Given the description of an element on the screen output the (x, y) to click on. 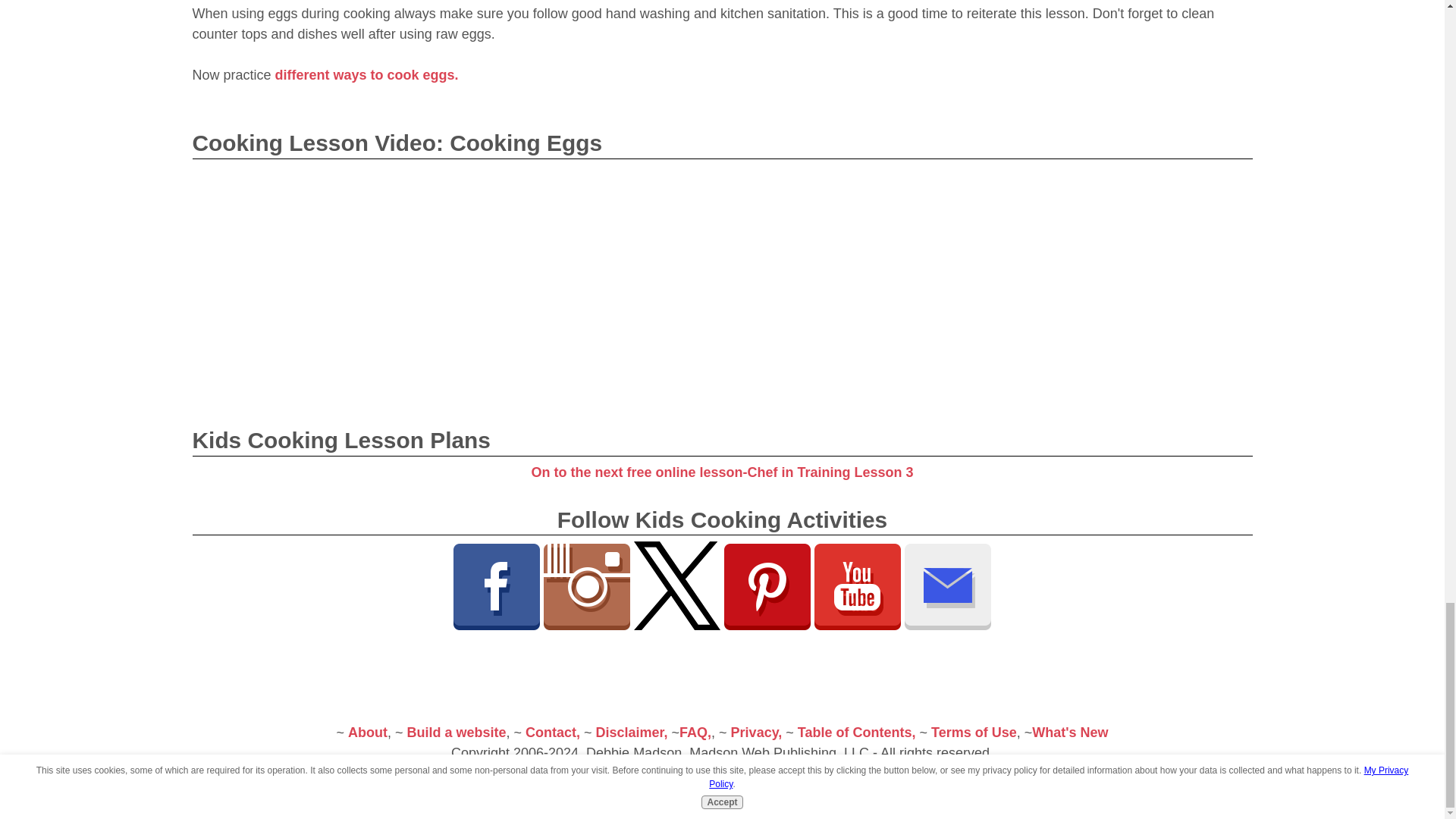
Build a website (455, 732)
Table of Contents, (856, 732)
Privacy, (756, 732)
About (367, 732)
Disclaimer, (631, 732)
On to the next free online lesson-Chef in Training Lesson 3 (721, 472)
Pinterest (766, 586)
Contact, (552, 732)
youtube (857, 586)
FAQ, (695, 732)
different ways to cook eggs. (364, 74)
What's New (1070, 732)
Terms of Use (973, 732)
